Given the description of an element on the screen output the (x, y) to click on. 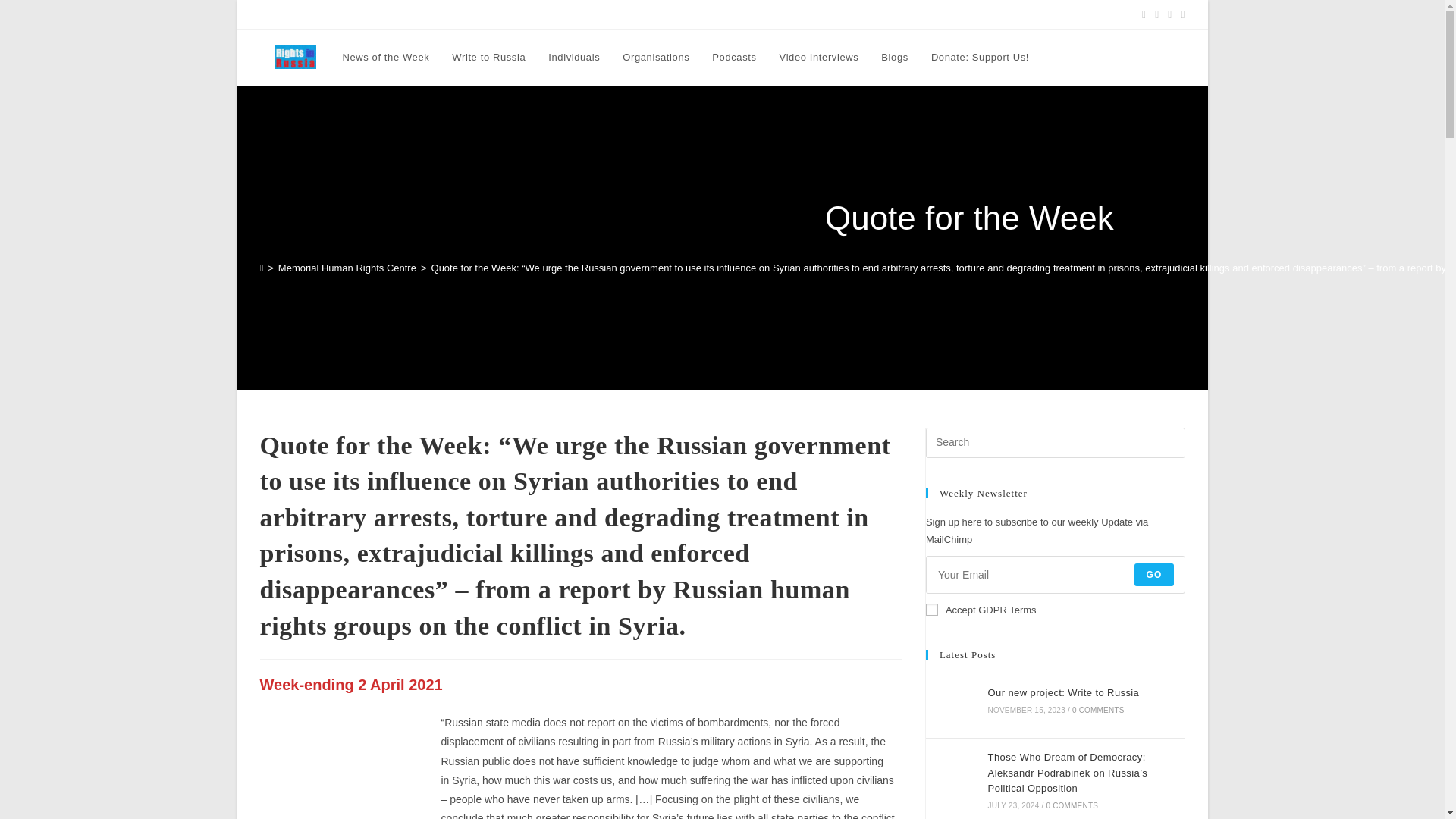
Organisations (655, 57)
News of the Week (385, 57)
Archive 2010-2020 (882, 13)
Video Interviews (819, 57)
Book Reviews (397, 13)
1 (931, 609)
Contact (752, 13)
Individuals (574, 57)
About us (707, 13)
Blogs (894, 57)
Events (504, 13)
Obituaries (458, 13)
Write to Russia (489, 57)
Rights in Russia Update (307, 13)
Our new project: Write to Russia (951, 700)
